Given the description of an element on the screen output the (x, y) to click on. 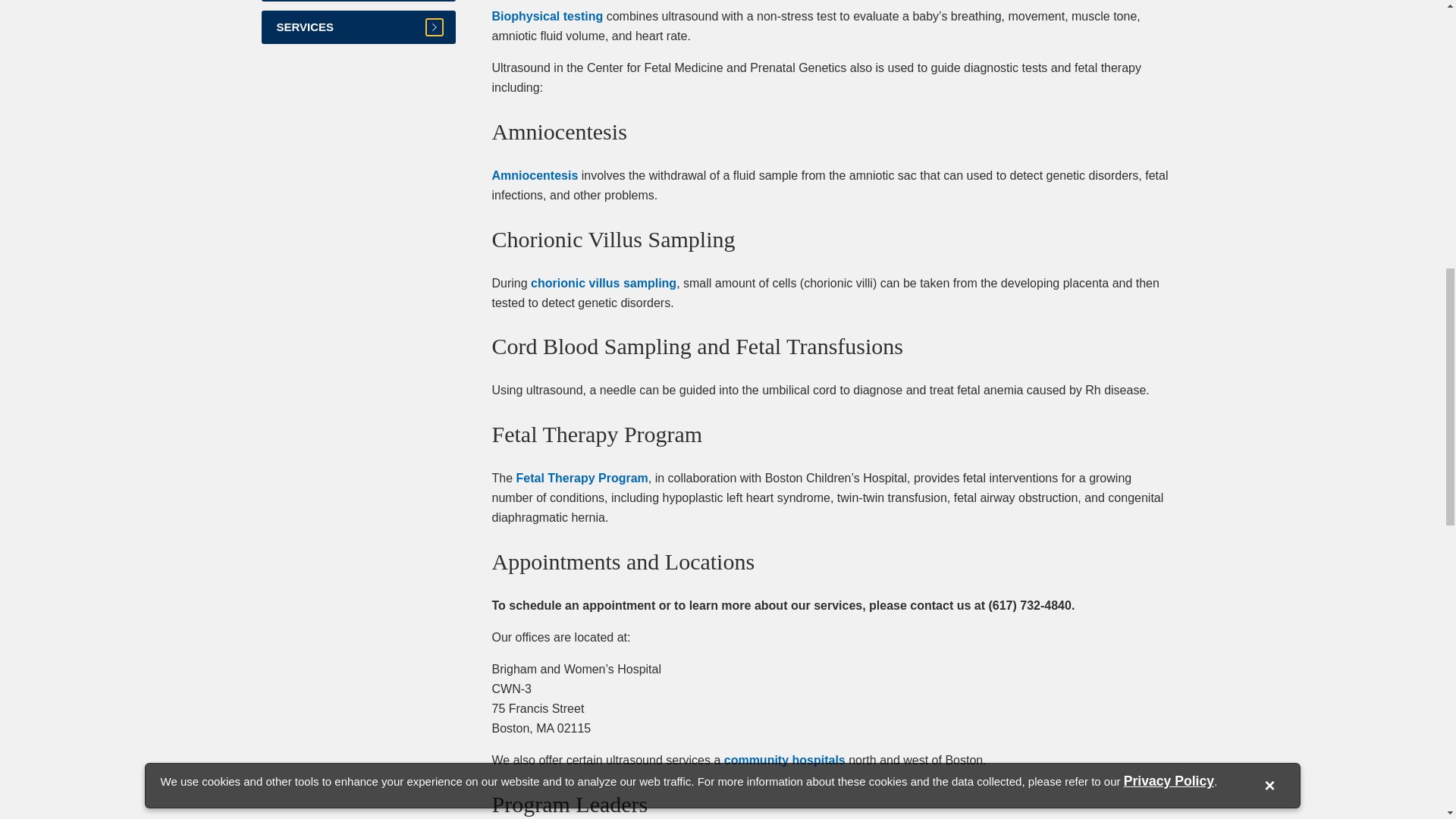
Amniocentesis (535, 174)
Biophysical testing (547, 15)
community hospitals (784, 759)
Fetal Therapy Program (581, 477)
chorionic villus sampling (604, 282)
